Given the description of an element on the screen output the (x, y) to click on. 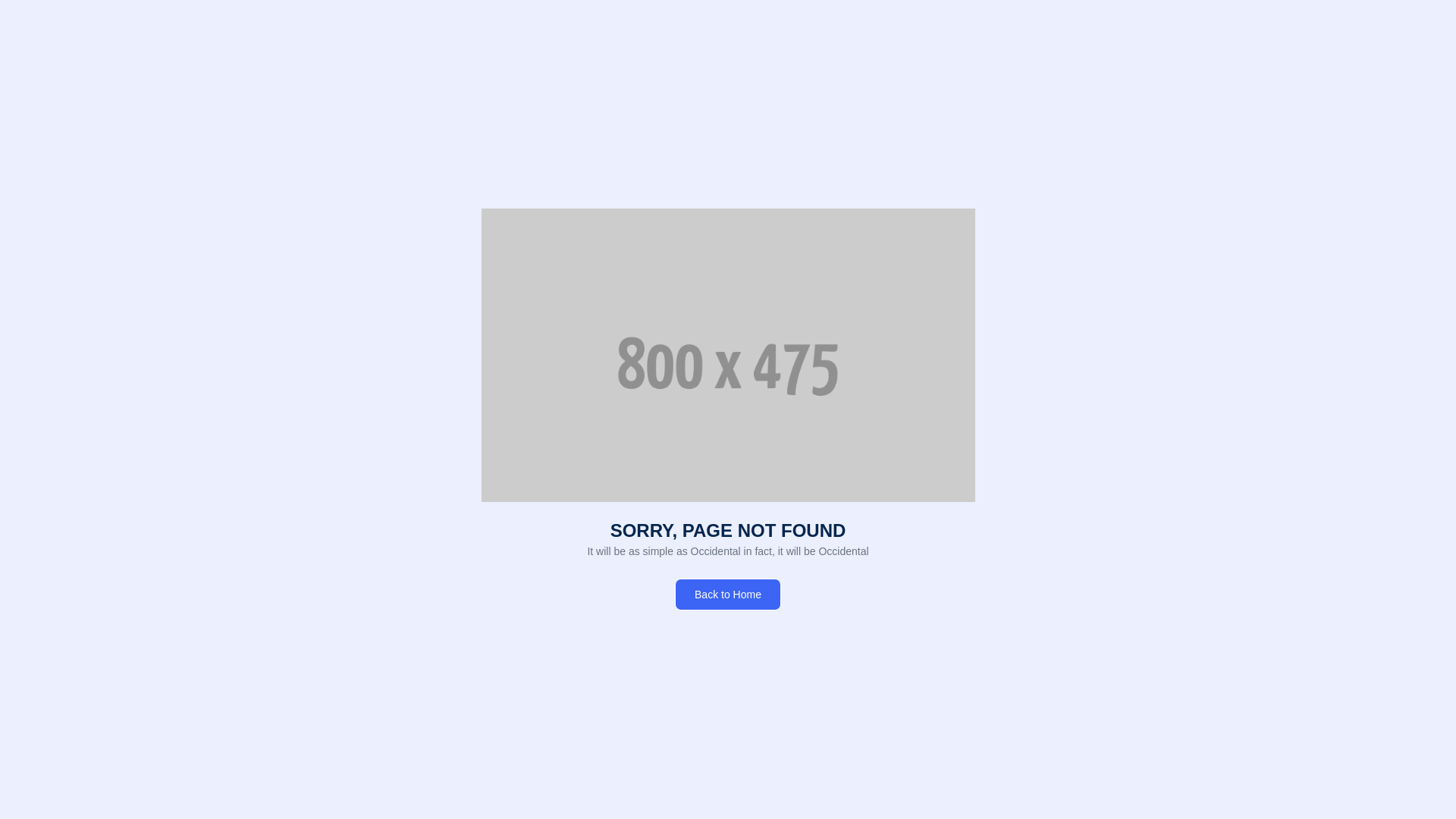
Back to Home (727, 594)
